Given the description of an element on the screen output the (x, y) to click on. 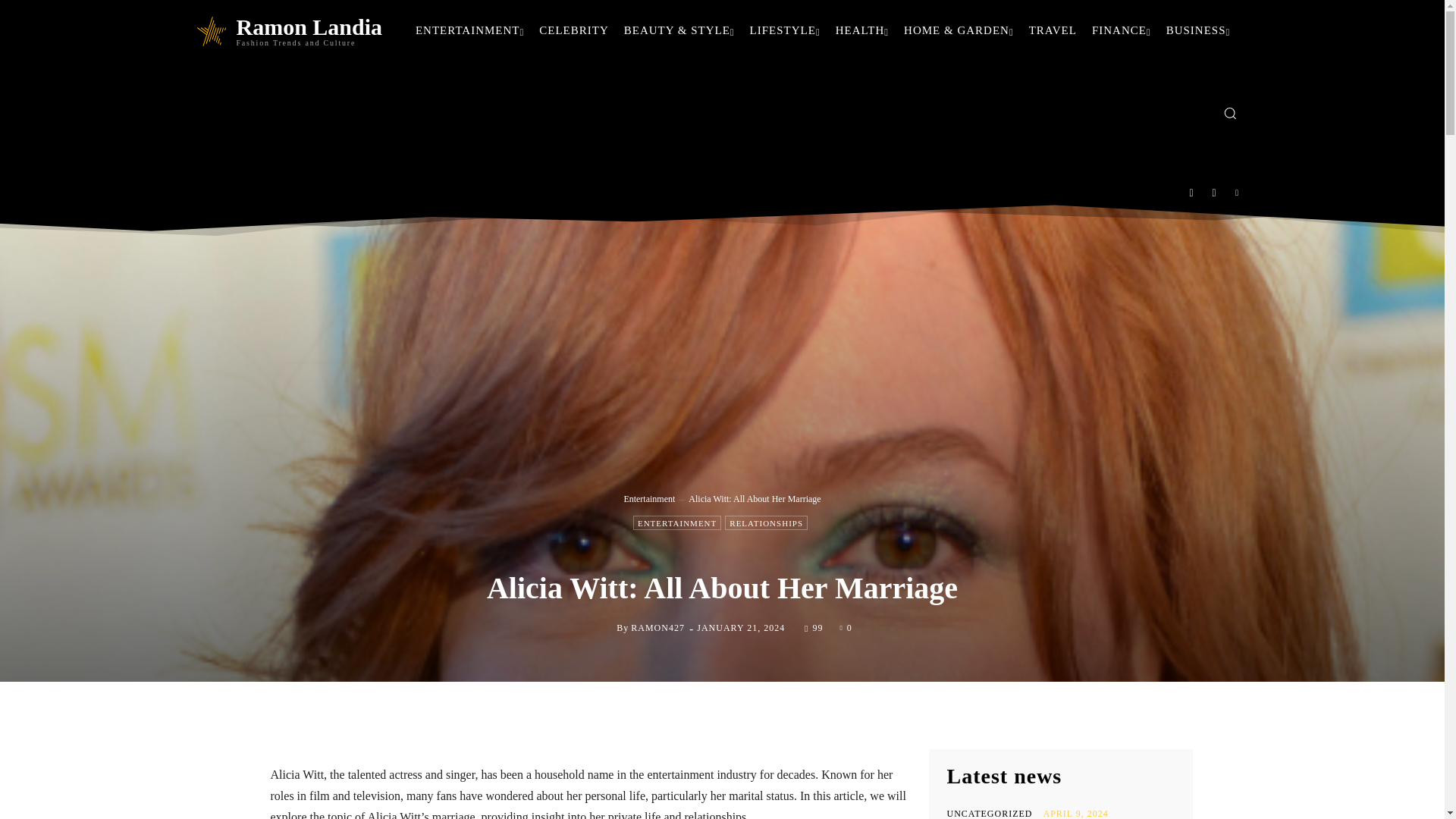
ramon427 (603, 628)
Facebook (1191, 192)
Instagram (1214, 192)
Twitter (1237, 192)
View all posts in Entertainment (649, 498)
